Given the description of an element on the screen output the (x, y) to click on. 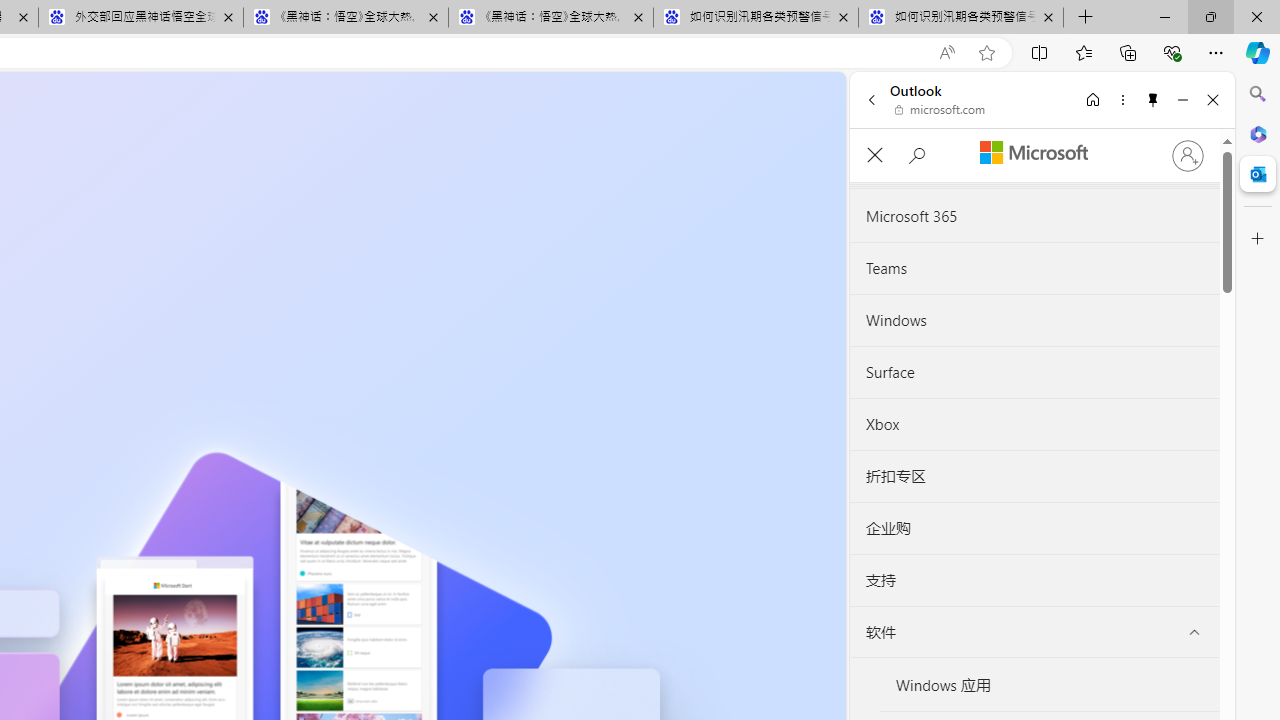
Teams (1034, 268)
Microsoft (1033, 153)
